Given the description of an element on the screen output the (x, y) to click on. 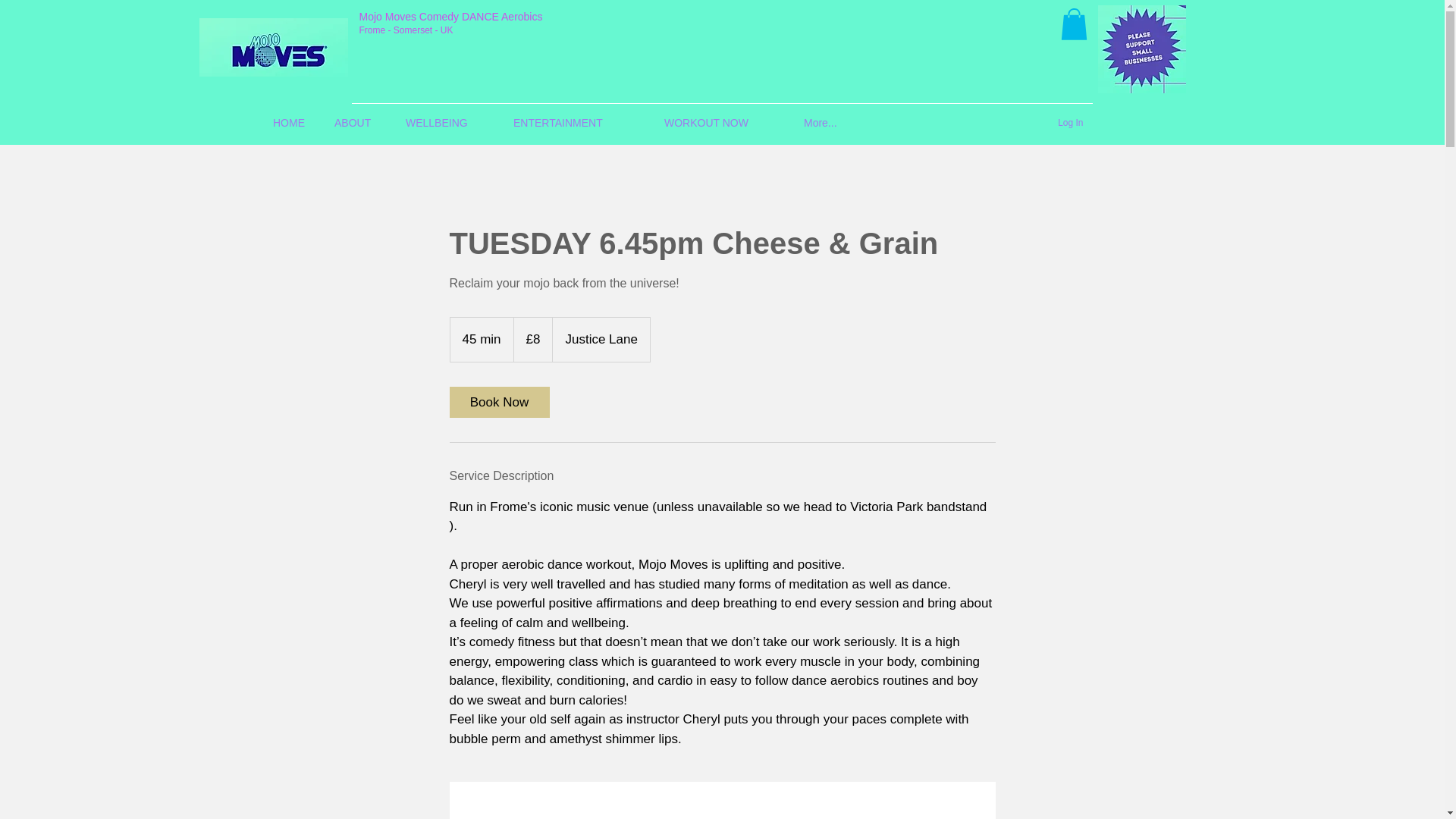
WORKOUT NOW (726, 122)
ENTERTAINMENT (580, 122)
HOME (295, 122)
WELLBEING (451, 122)
Log In (1069, 123)
Book Now (498, 401)
ABOUT (361, 122)
